Given the description of an element on the screen output the (x, y) to click on. 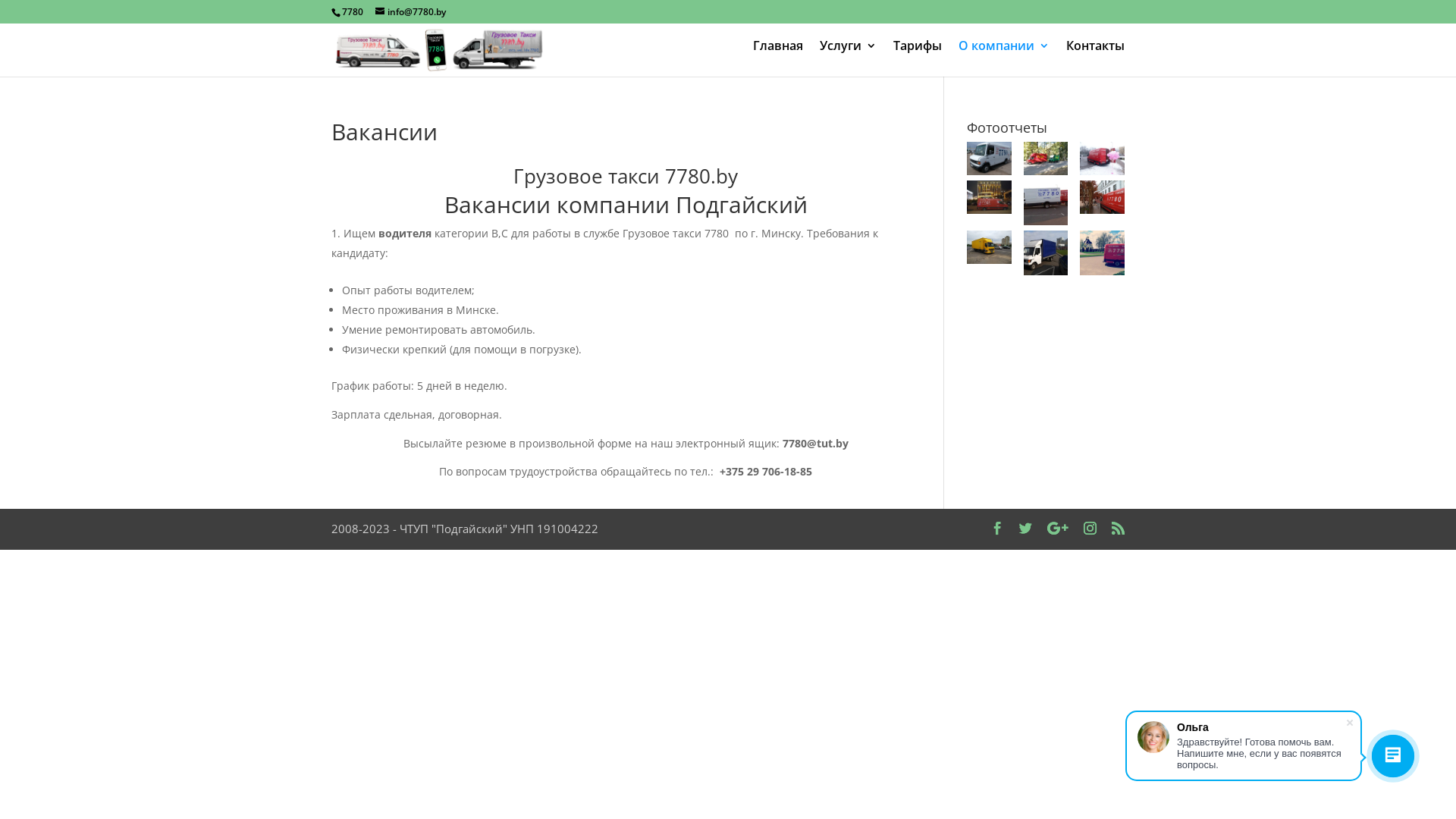
10 tonn gruzoperevozki 7780.by Element type: hover (988, 246)
IMG_20171025_201702 Element type: hover (988, 196)
41985293_546892755763488_6349637421845871075_n Element type: hover (1045, 252)
29718277_401626420302812_9152819064349917184_n Element type: hover (1045, 202)
31272060_960291674137089_8008144283498446848_n Element type: hover (1101, 252)
IMG_20171030_160746 Element type: hover (1101, 196)
IMG_20161230_153348 Element type: hover (1101, 158)
info@7780.by Element type: text (410, 11)
